Given the description of an element on the screen output the (x, y) to click on. 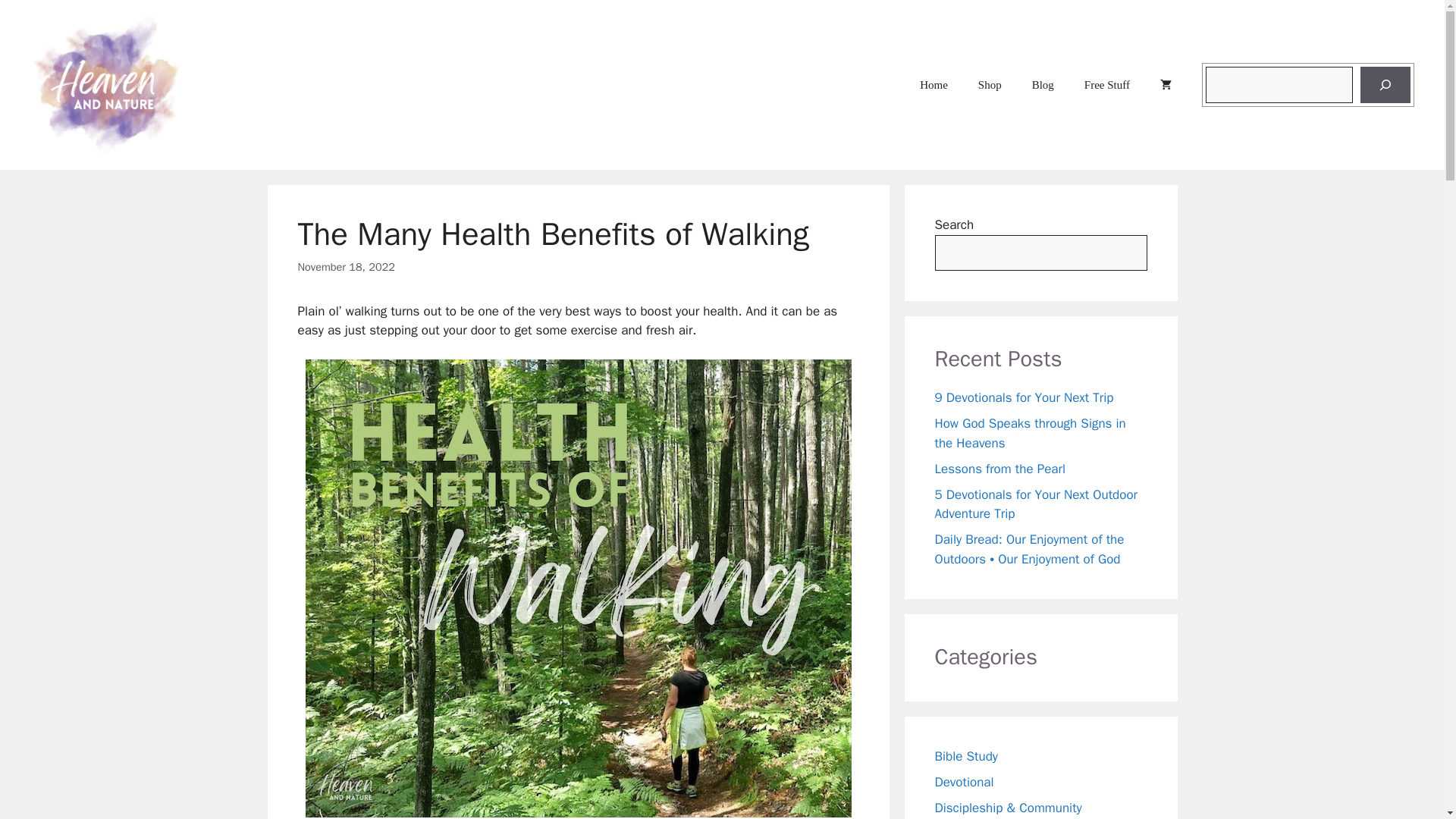
Blog (1042, 84)
5 Devotionals for Your Next Outdoor Adventure Trip (1035, 504)
Shop (989, 84)
9 Devotionals for Your Next Trip (1023, 397)
Lessons from the Pearl (999, 468)
Devotional (963, 781)
Home (933, 84)
Bible Study (965, 756)
How God Speaks through Signs in the Heavens (1029, 433)
View your shopping cart (1165, 84)
Free Stuff (1106, 84)
